Given the description of an element on the screen output the (x, y) to click on. 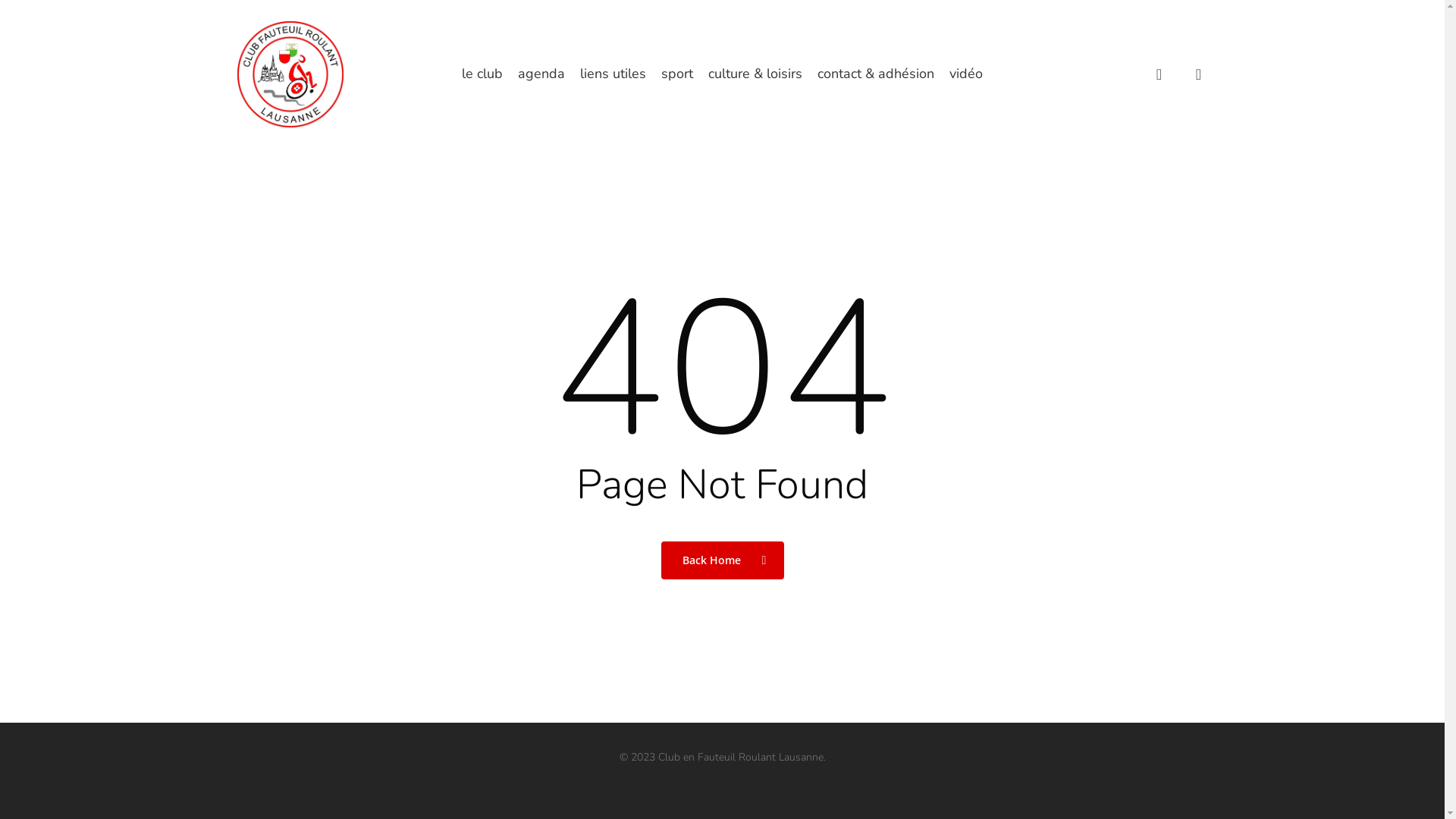
culture & loisirs Element type: text (755, 73)
search Element type: text (1158, 74)
liens utiles Element type: text (613, 73)
le club Element type: text (481, 73)
Back Home Element type: text (722, 560)
agenda Element type: text (540, 73)
account Element type: text (1198, 74)
sport Element type: text (677, 73)
